Given the description of an element on the screen output the (x, y) to click on. 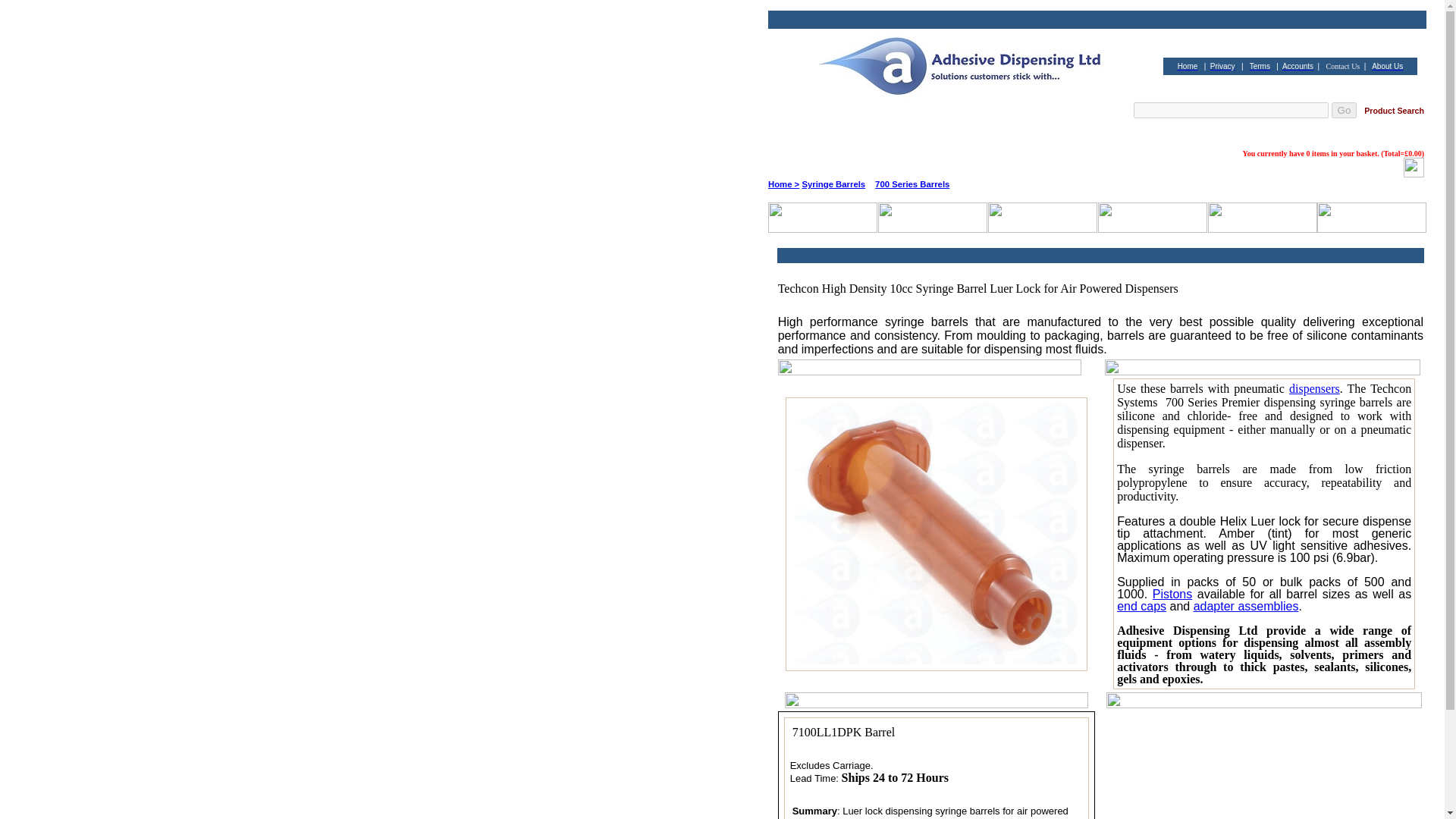
Go (1344, 109)
About Us (1387, 66)
Privacy (1221, 66)
Accounts (1297, 66)
Contact Us (1342, 66)
Go (1344, 109)
end caps (1141, 605)
Home (1187, 66)
View Basket (1413, 173)
700 Series Barrels (912, 184)
